Given the description of an element on the screen output the (x, y) to click on. 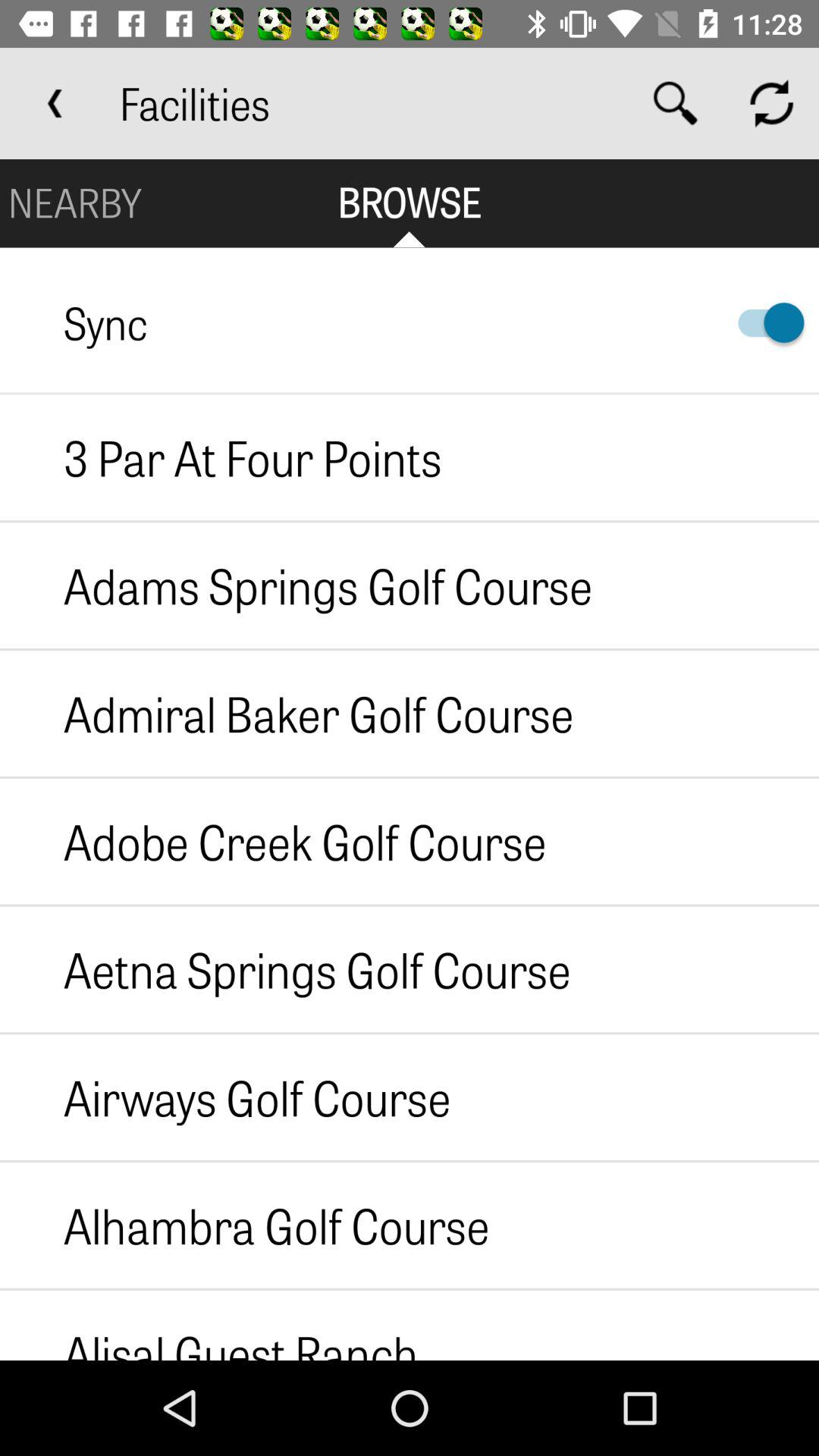
choose item below adobe creek golf (285, 969)
